Given the description of an element on the screen output the (x, y) to click on. 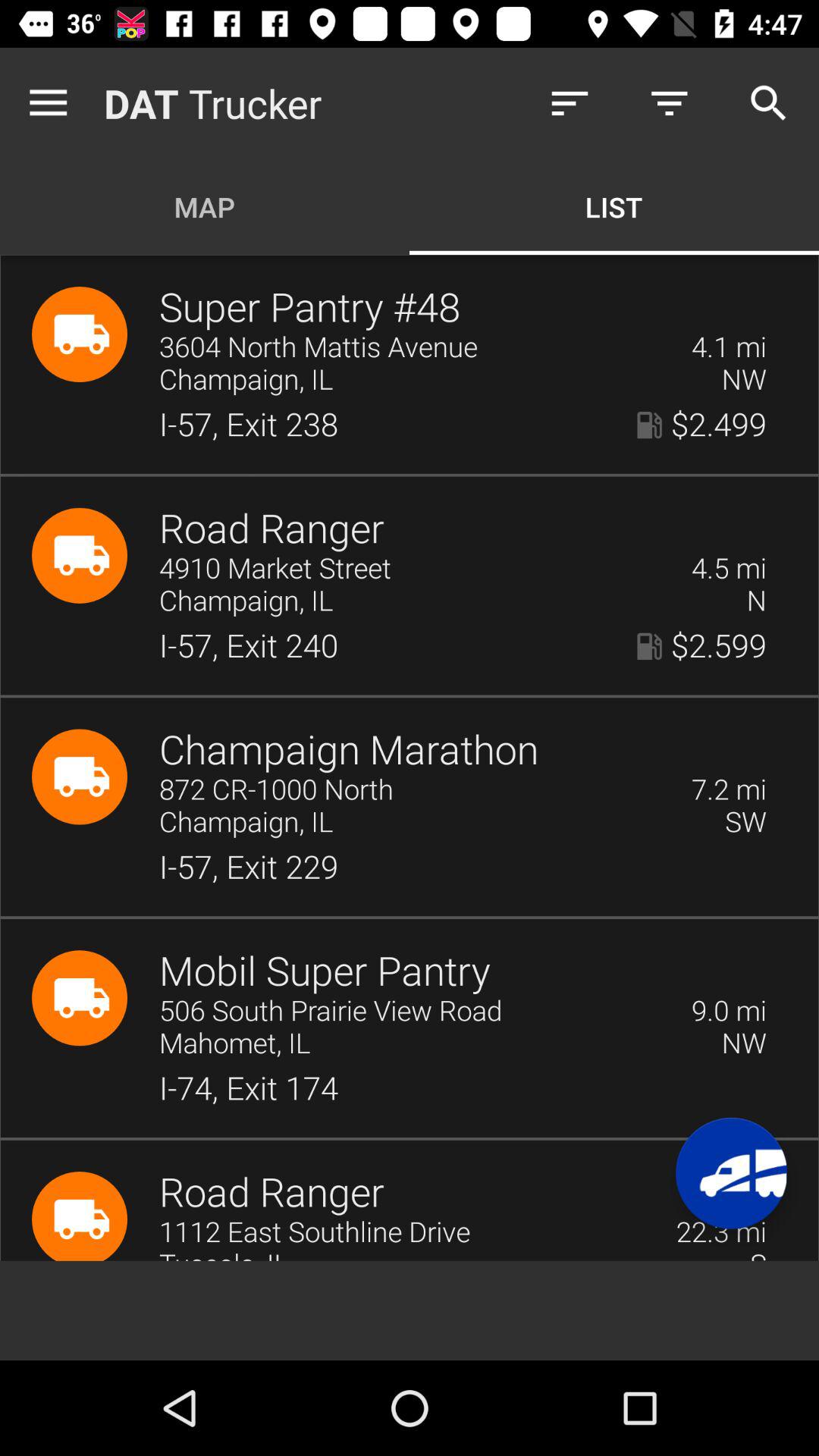
select the icon below i 57 exit icon (728, 1011)
